Given the description of an element on the screen output the (x, y) to click on. 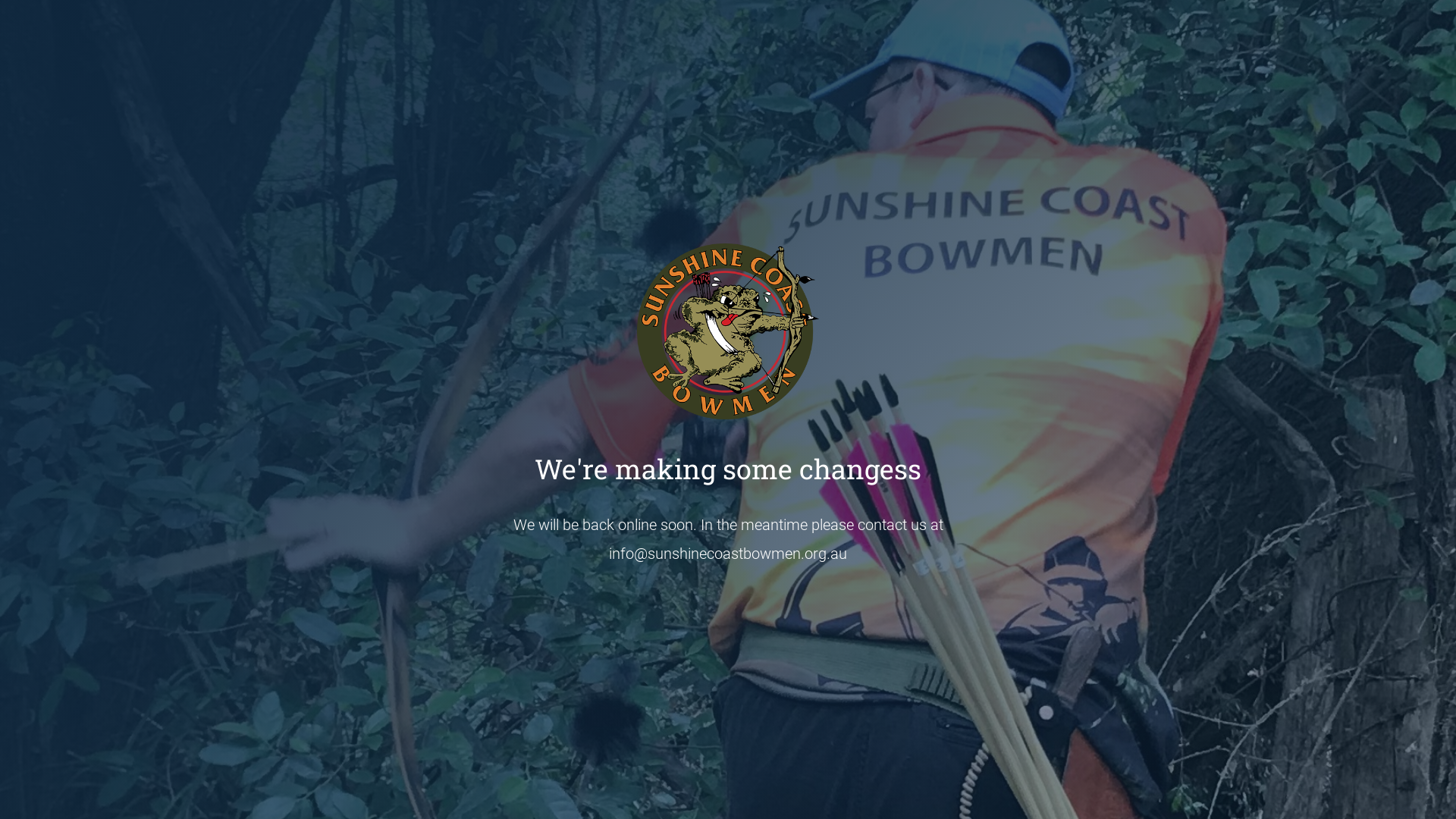
SCB-Logo-400 Element type: hover (728, 331)
